Given the description of an element on the screen output the (x, y) to click on. 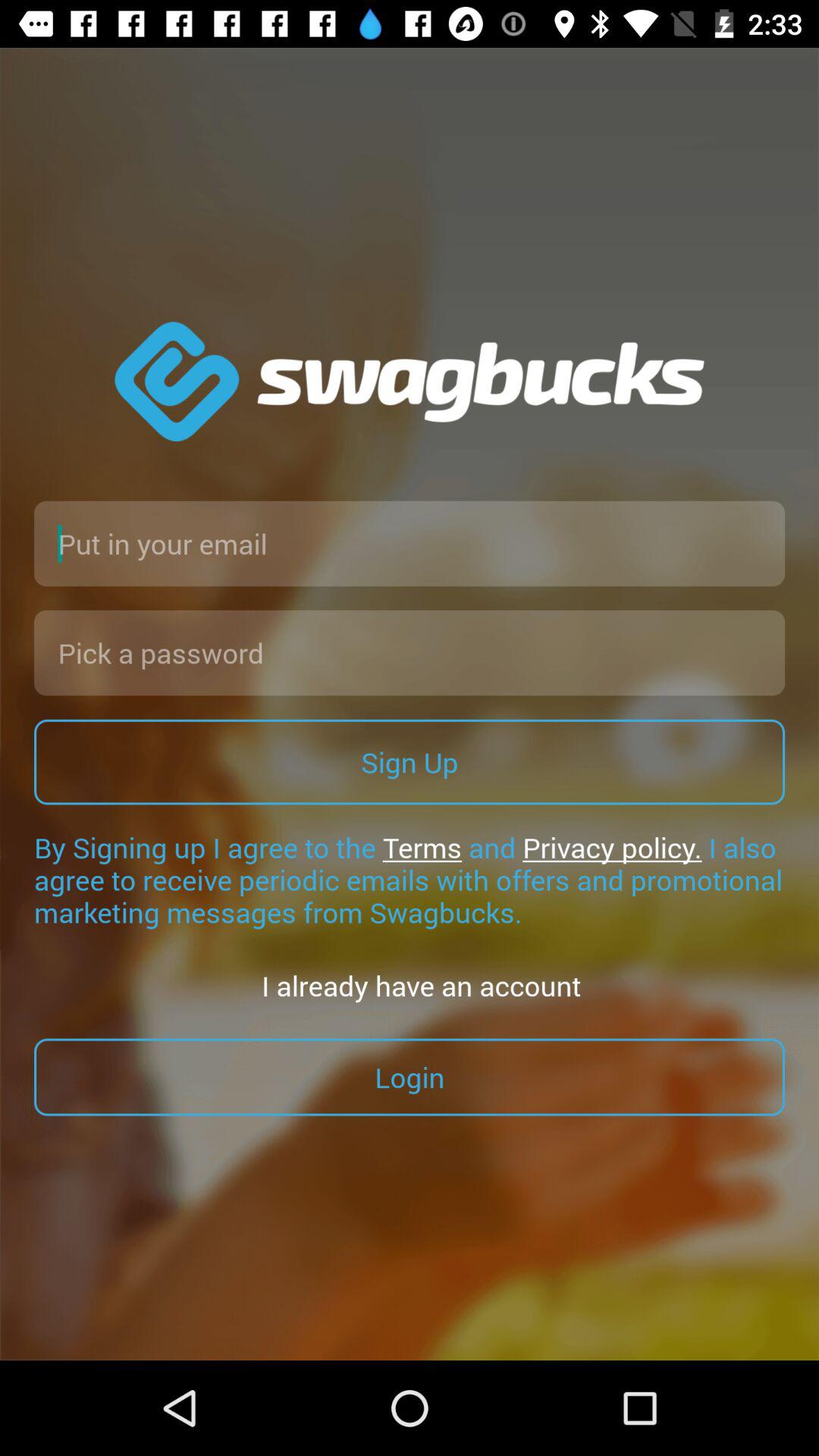
turn on the icon above by signing up item (409, 761)
